Given the description of an element on the screen output the (x, y) to click on. 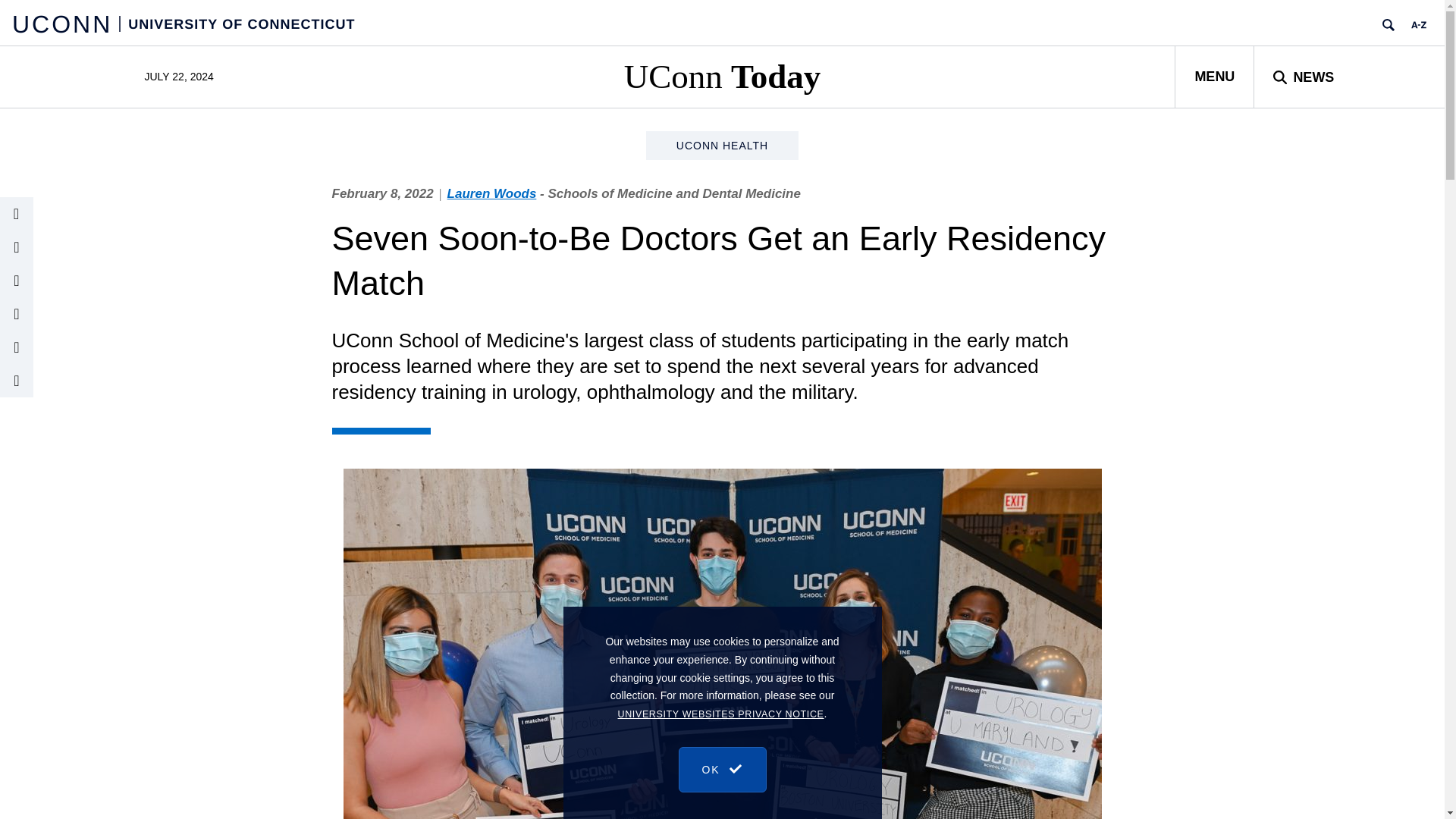
Search UConn Today News (1302, 76)
Search UConn (1387, 24)
Share on Twitter (16, 280)
Share on LinkedIn (16, 313)
UConn A to Z Search (1418, 24)
MENU (1213, 76)
UCONN UNIVERSITY OF CONNECTICUT (183, 22)
Lauren Woods (491, 193)
Email article (16, 246)
Share on Reddit (16, 380)
Share on Facebook (16, 346)
NEWS (1302, 76)
UConn Today (722, 75)
Copy link to article (16, 213)
Open Menu (1213, 76)
